Given the description of an element on the screen output the (x, y) to click on. 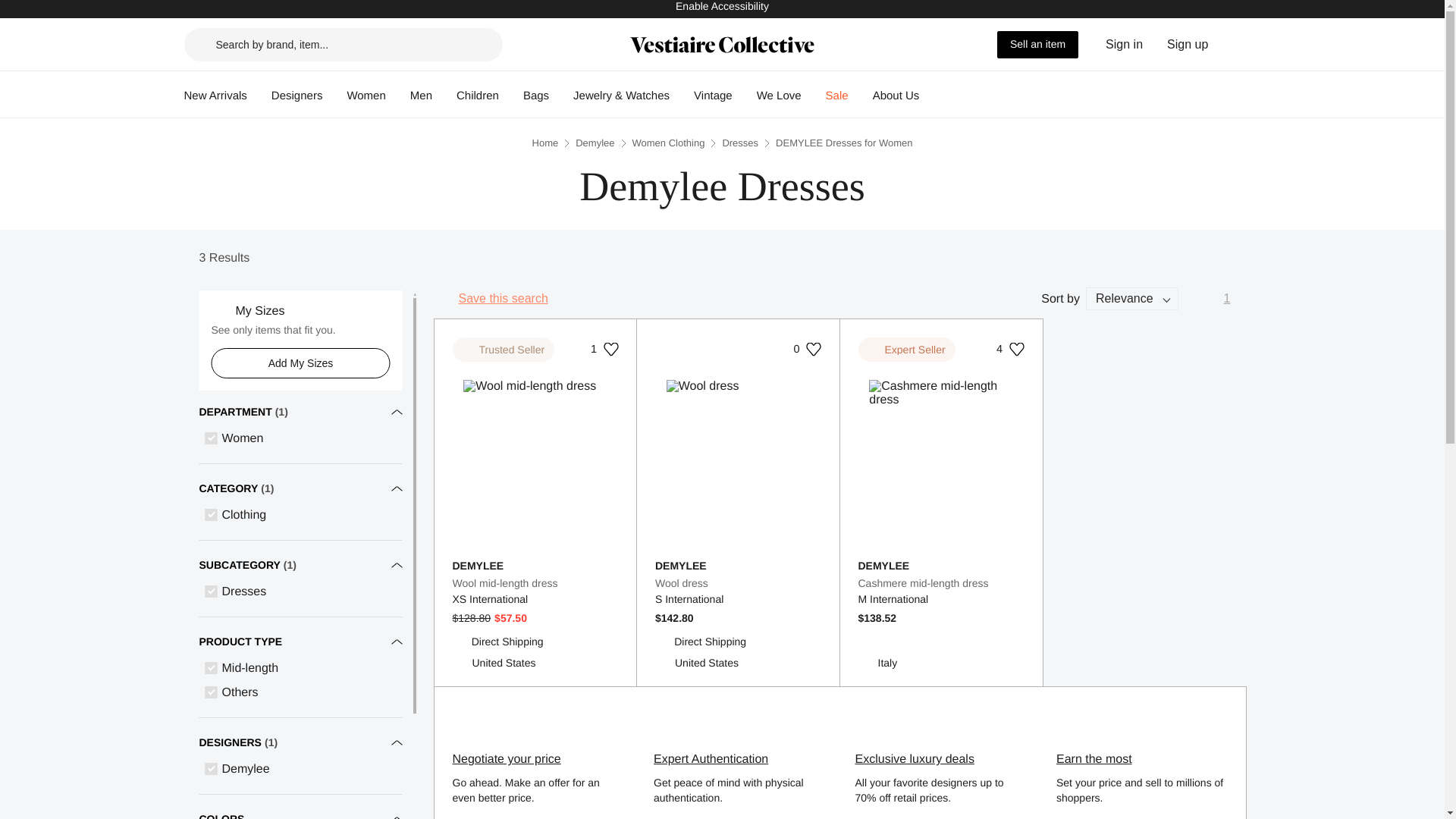
1 (1227, 298)
1 (604, 349)
Designers (534, 581)
About Us (296, 95)
Home (896, 95)
Sale (545, 142)
on (836, 95)
on (779, 95)
Women (738, 581)
Save this search (1187, 44)
